Given the description of an element on the screen output the (x, y) to click on. 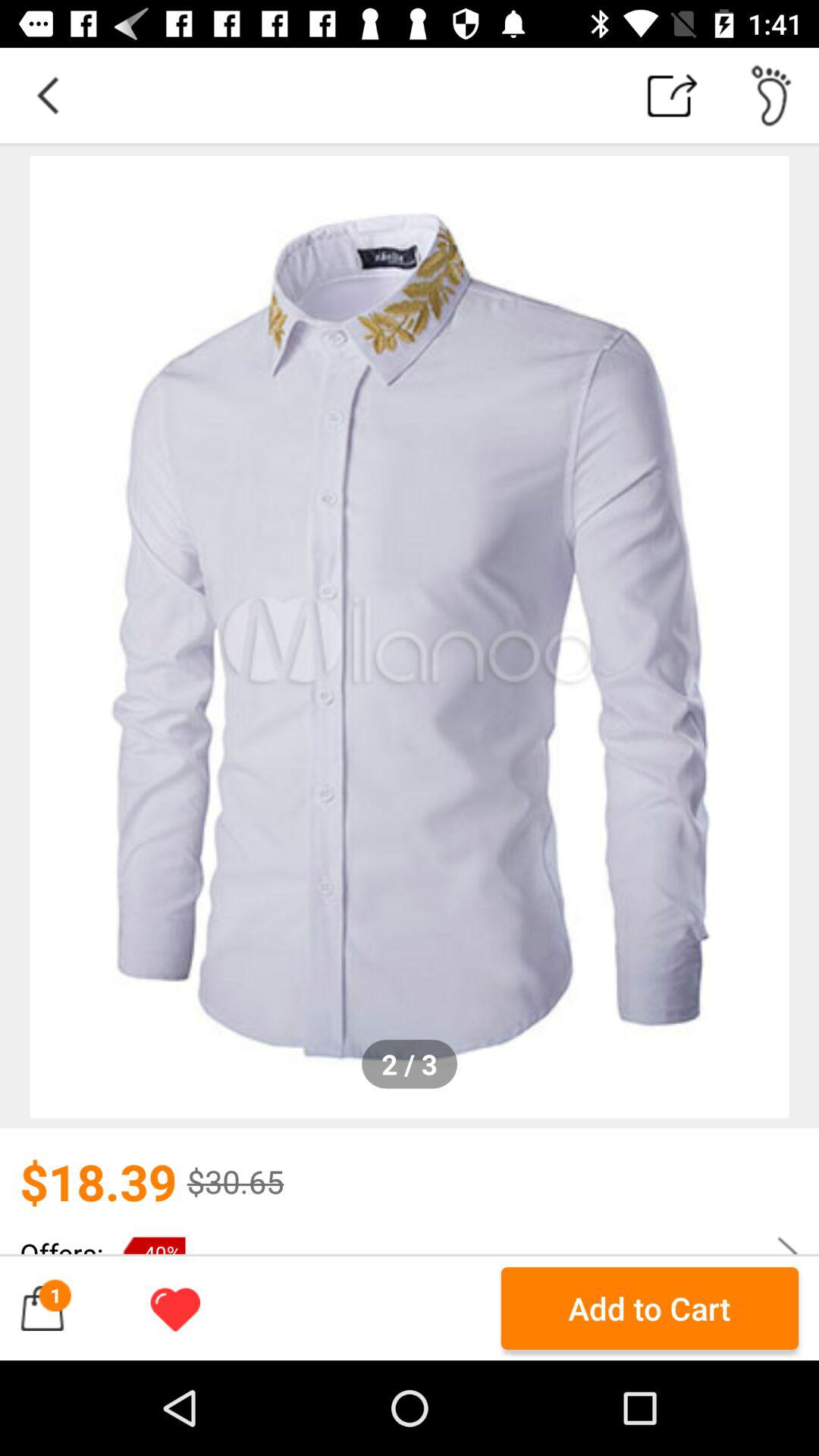
select app above the $18.39 (409, 636)
